Given the description of an element on the screen output the (x, y) to click on. 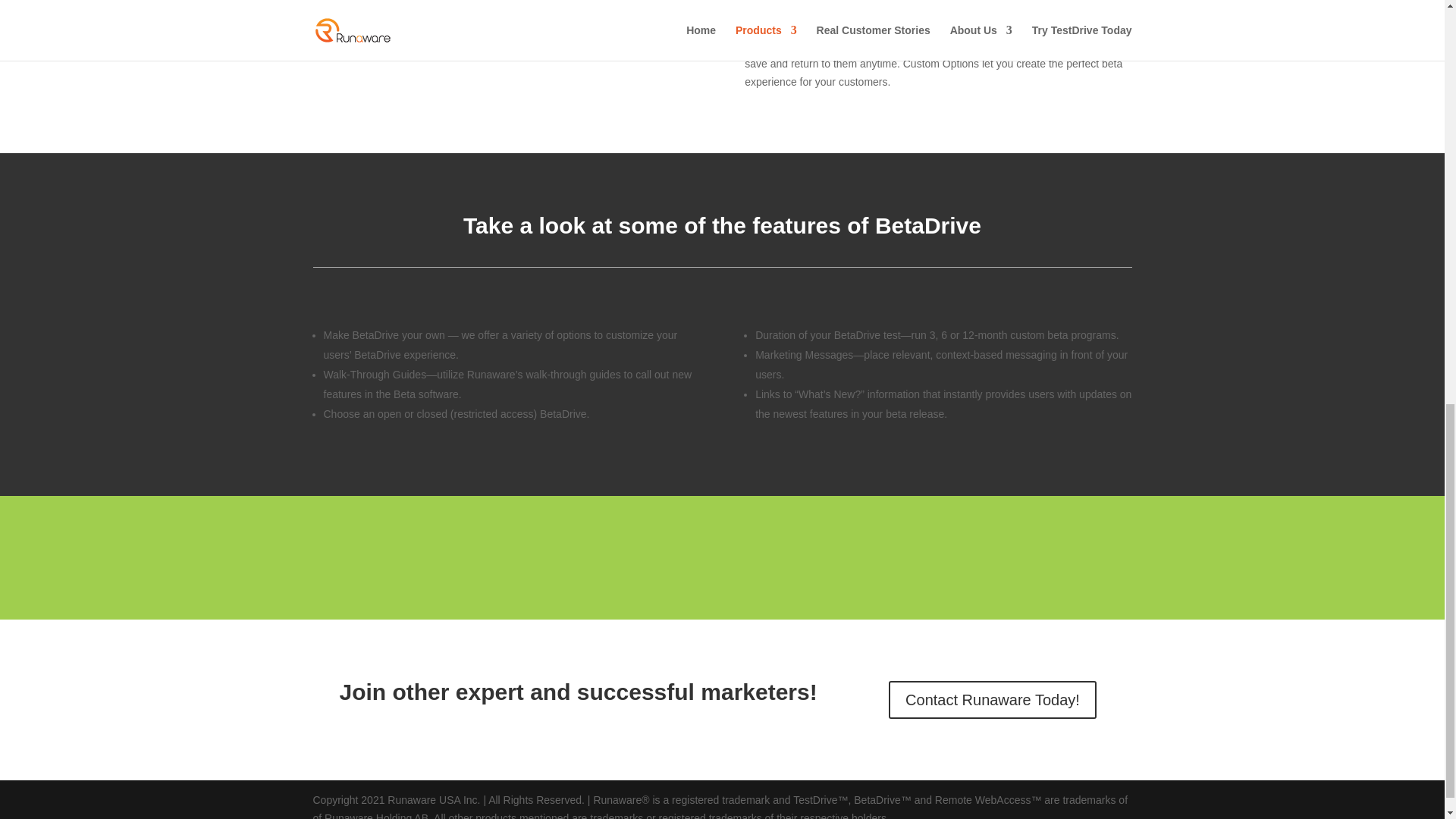
Contact Runaware Today! (992, 699)
